Given the description of an element on the screen output the (x, y) to click on. 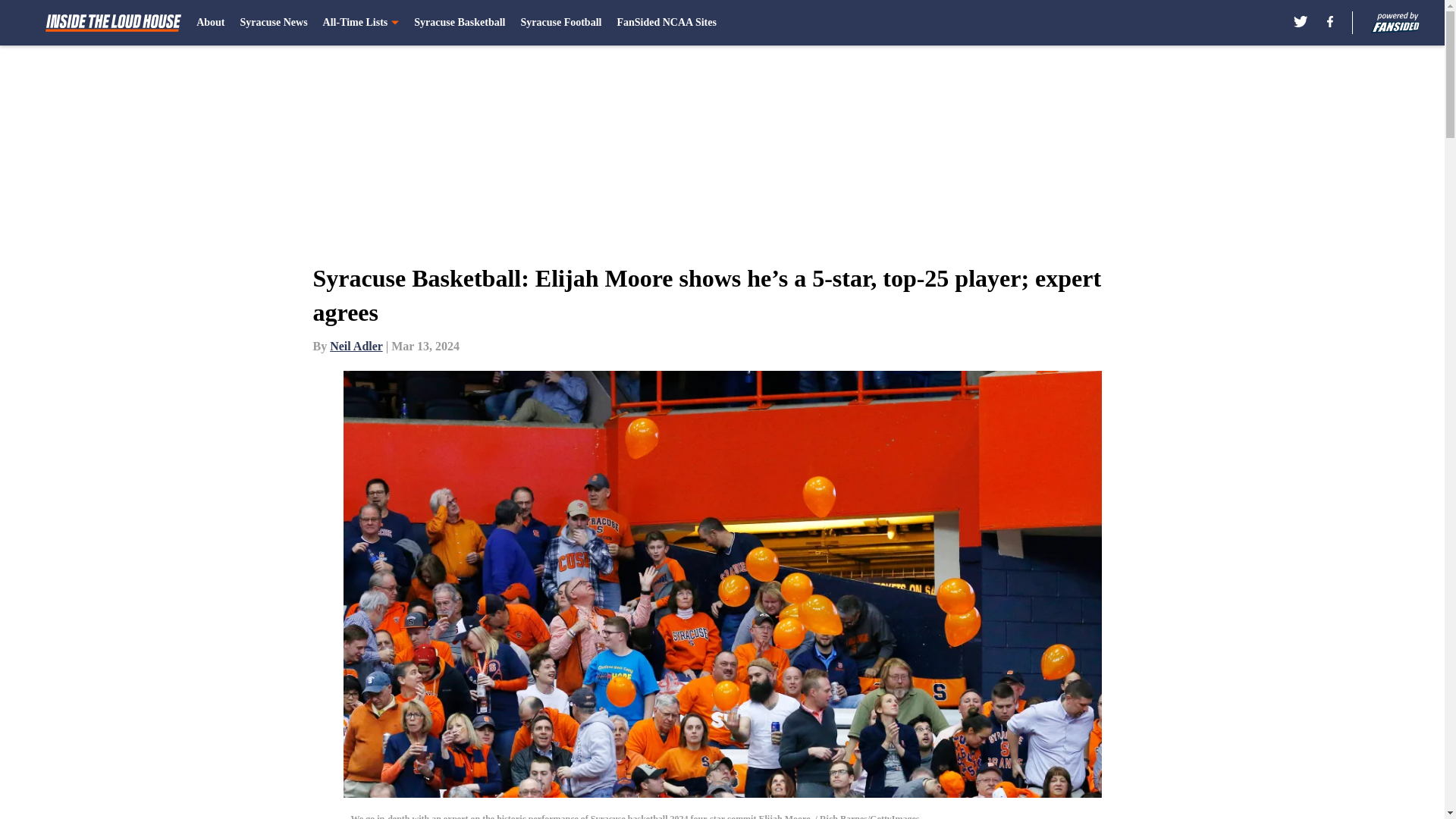
Neil Adler (355, 345)
FanSided NCAA Sites (665, 22)
Syracuse News (273, 22)
About (210, 22)
Syracuse Basketball (459, 22)
Syracuse Football (560, 22)
